Given the description of an element on the screen output the (x, y) to click on. 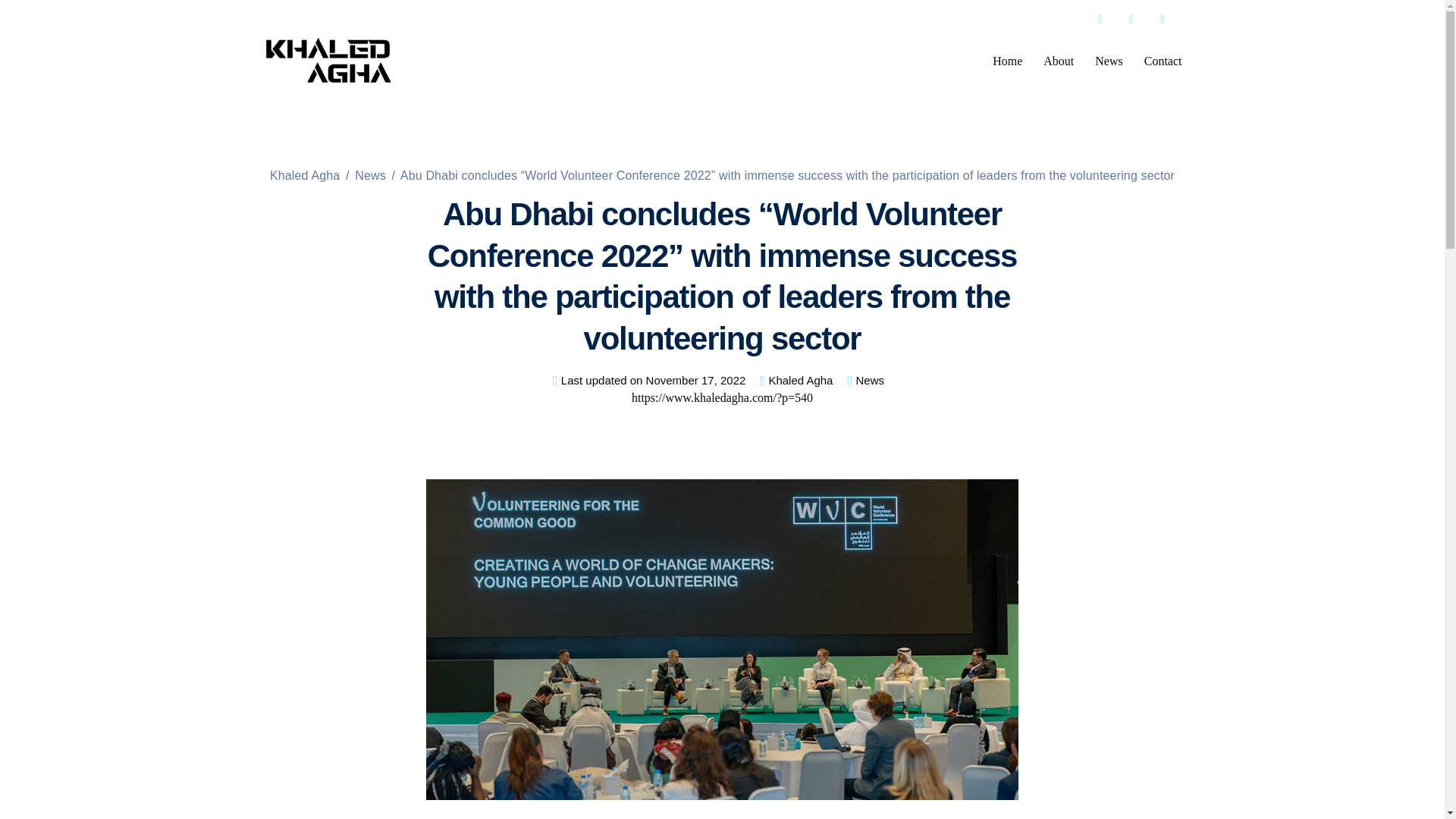
Go to the News Category archives. (370, 174)
Go to Khaled Agha. (304, 174)
Posts by Khaled Agha (800, 380)
News (869, 379)
Khaled Agha (800, 380)
Contact (1163, 61)
Khaled Agha (304, 174)
News (370, 174)
